Given the description of an element on the screen output the (x, y) to click on. 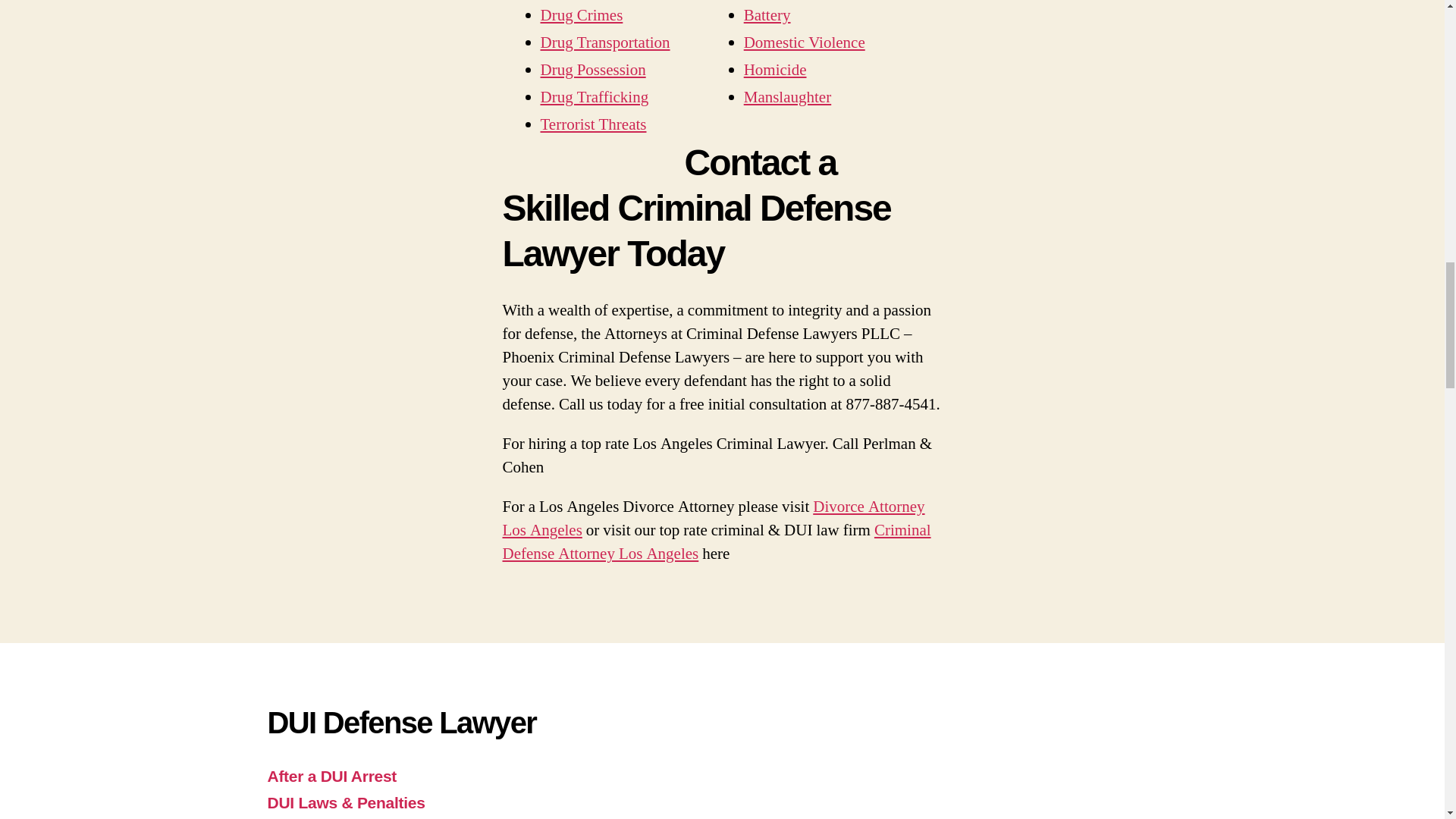
Battery (767, 14)
Drug Crimes (581, 14)
Drug Transportation (604, 42)
Terrorist Threats (593, 124)
Manslaughter (787, 96)
Domestic Violence (804, 42)
Phoenix Drug Trafficking Lawyer (593, 96)
Drug Possession (592, 69)
Phoenix Drug Possession Lawyer (592, 69)
Drug Trafficking (593, 96)
Homicide (775, 69)
Phoenix Federal Drug Crimes Lawyer (581, 14)
Phoenix Criminal Threats Lawyer (593, 124)
Phoenix Drug Transportation Lawyer (604, 42)
Divorce Attorney Los Angeles (713, 518)
